Given the description of an element on the screen output the (x, y) to click on. 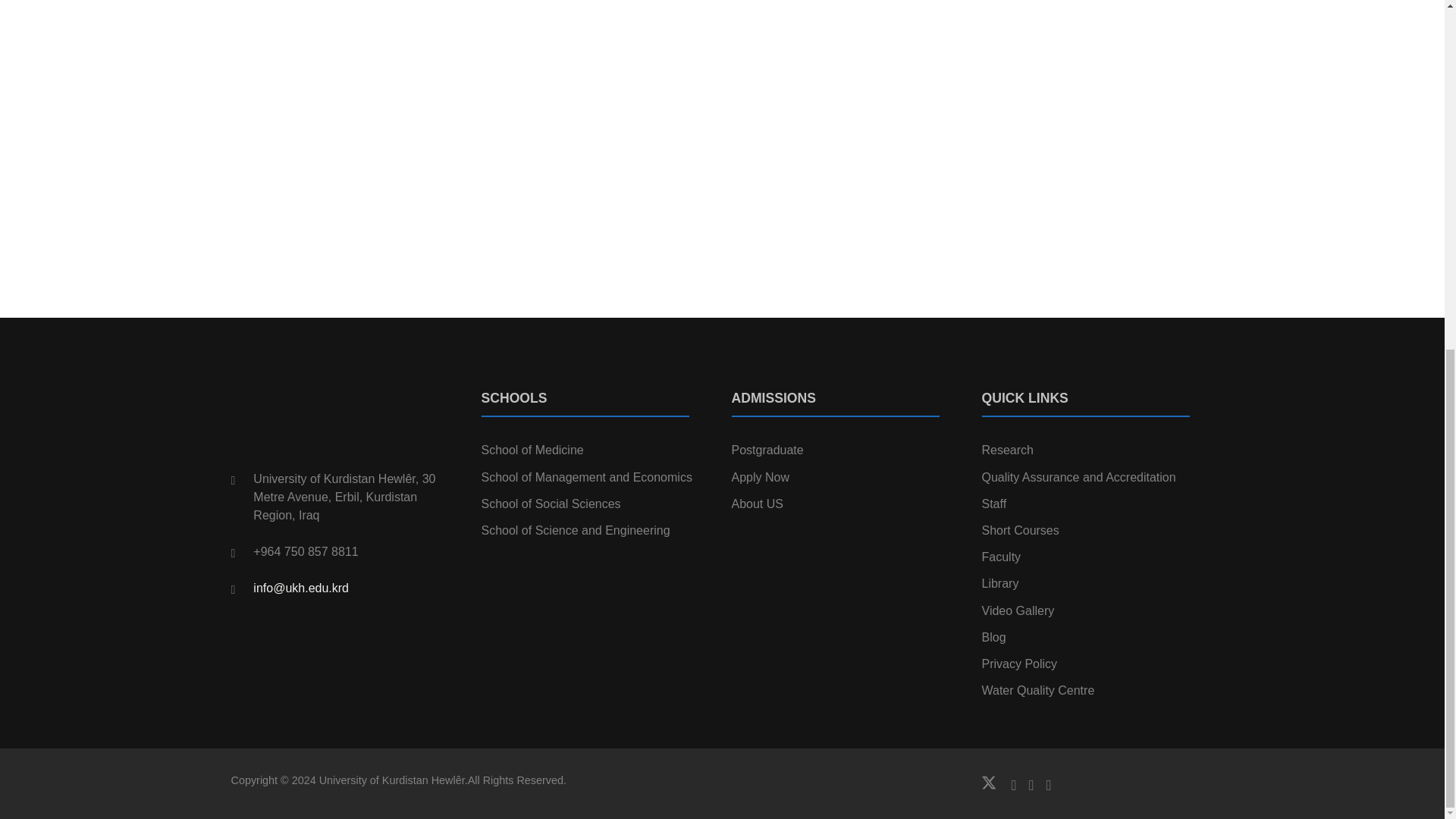
School of Medicine (531, 449)
Twitter (995, 783)
School of Management and Economics (585, 477)
School of Social Sciences (550, 503)
